Given the description of an element on the screen output the (x, y) to click on. 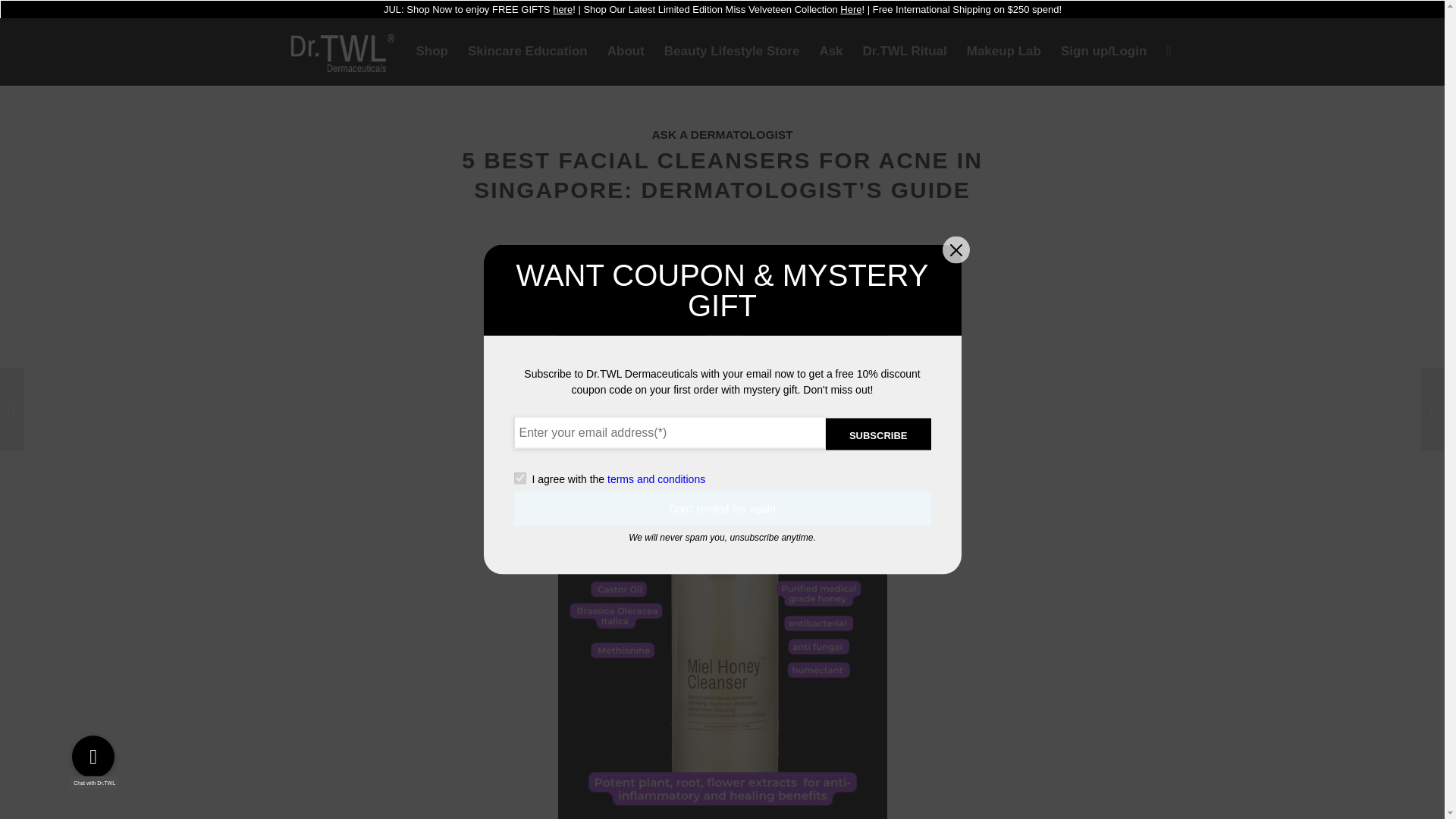
JUL: Shop Now to enjoy FREE GIFTS here! (479, 9)
on (519, 478)
